Given the description of an element on the screen output the (x, y) to click on. 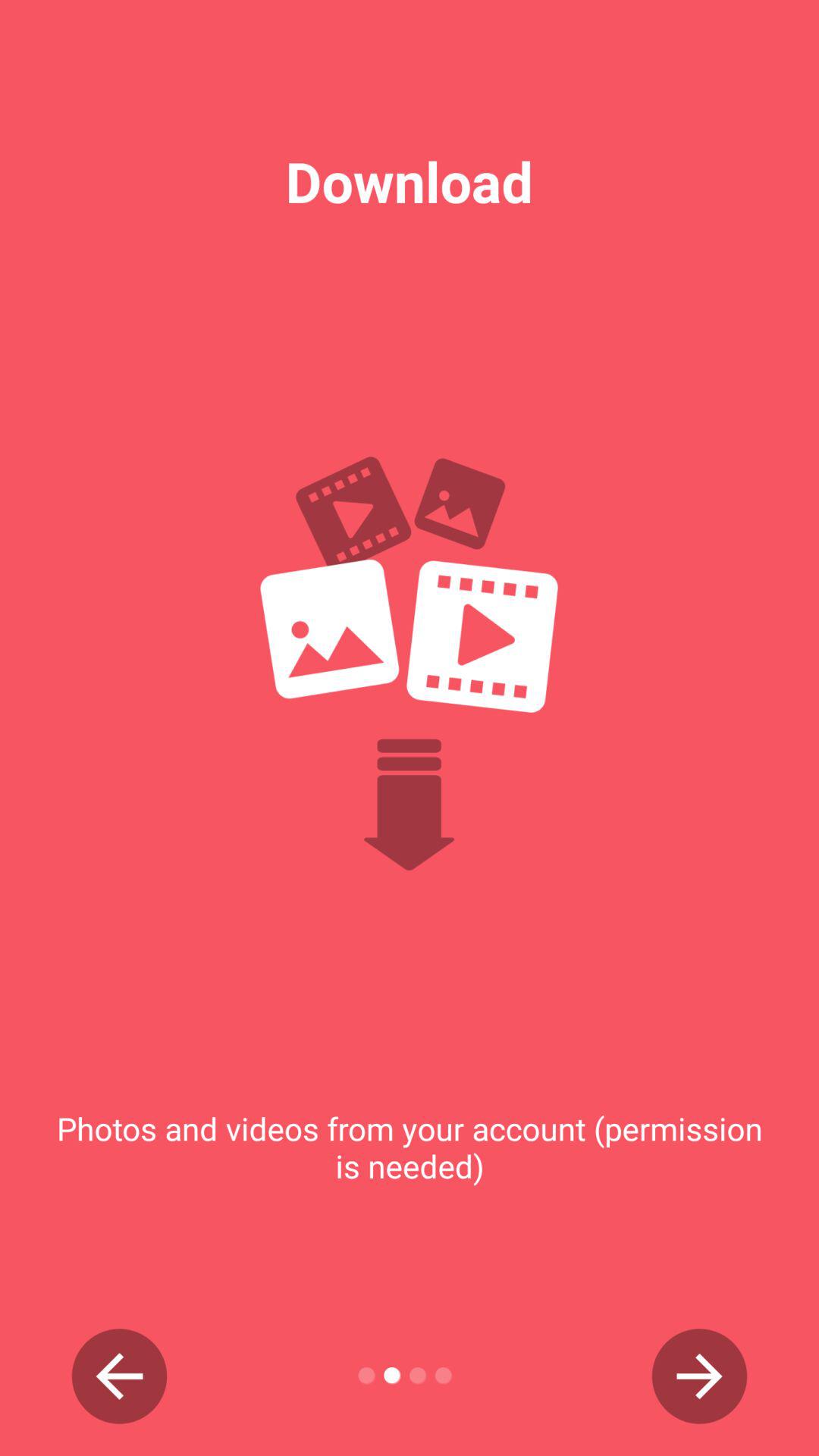
next screen (699, 1376)
